Given the description of an element on the screen output the (x, y) to click on. 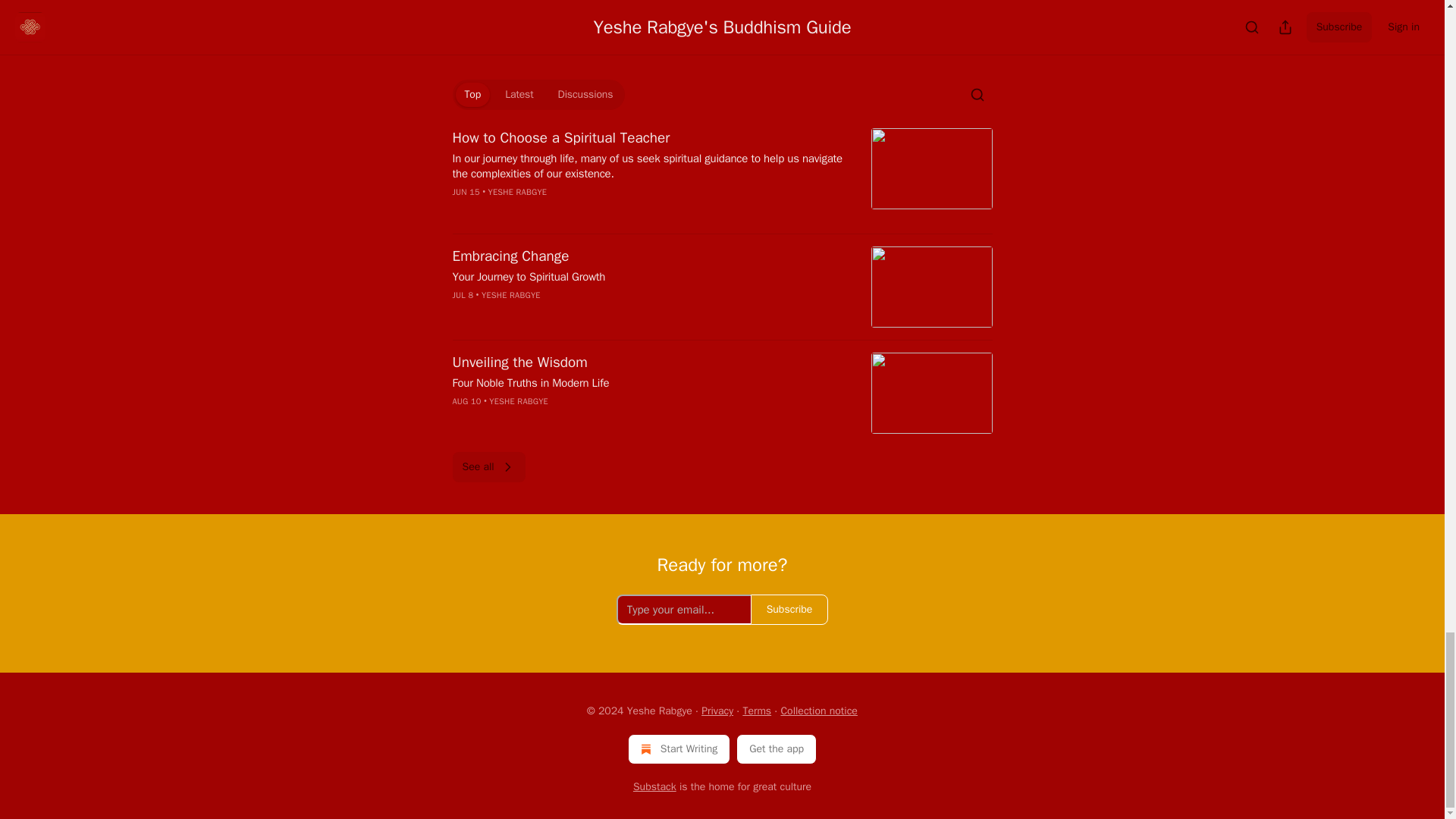
Top (471, 94)
Discussions (585, 94)
Latest (518, 94)
